Given the description of an element on the screen output the (x, y) to click on. 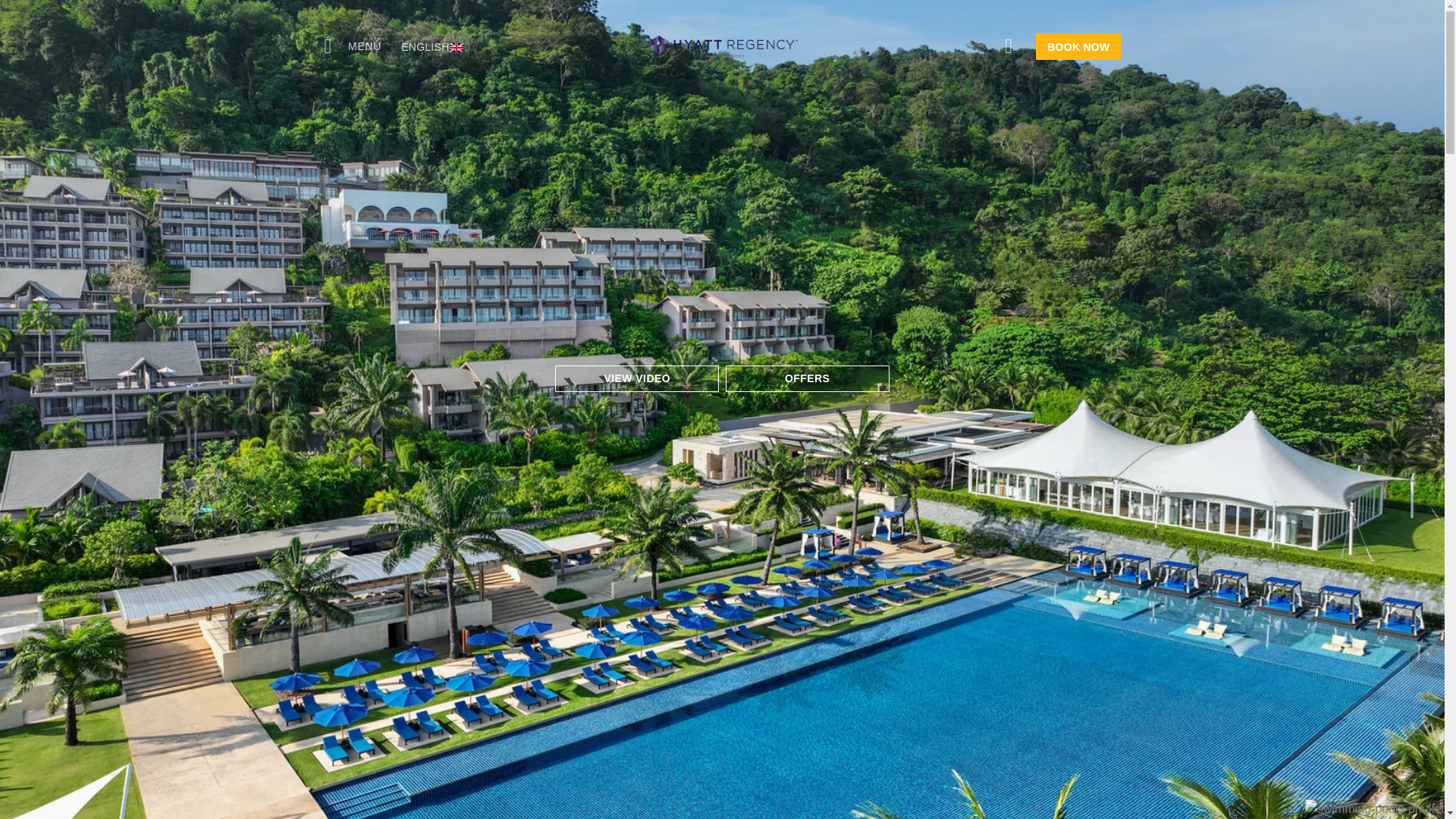
VIEW VIDEO (636, 378)
OFFERS (807, 378)
Hyatt - Hyatt Regency Phuket Resort (721, 45)
BOOK NOW (1077, 46)
ENGLISH (435, 46)
MENU (352, 46)
